Given the description of an element on the screen output the (x, y) to click on. 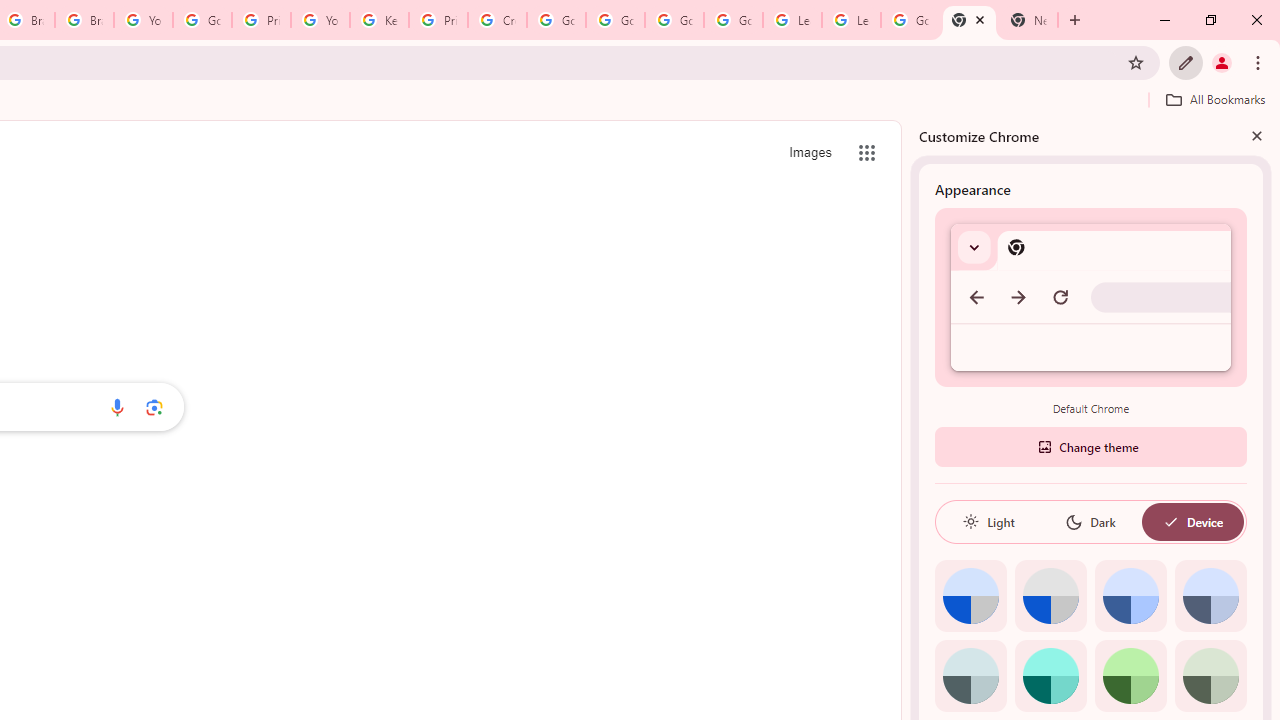
Google Account Help (733, 20)
Google Account Help (615, 20)
Grey default color (1050, 596)
New Tab (1028, 20)
Aqua (1050, 676)
YouTube (142, 20)
Default Chrome (1091, 296)
Create your Google Account (497, 20)
AutomationID: baseSvg (1170, 521)
YouTube (319, 20)
